Given the description of an element on the screen output the (x, y) to click on. 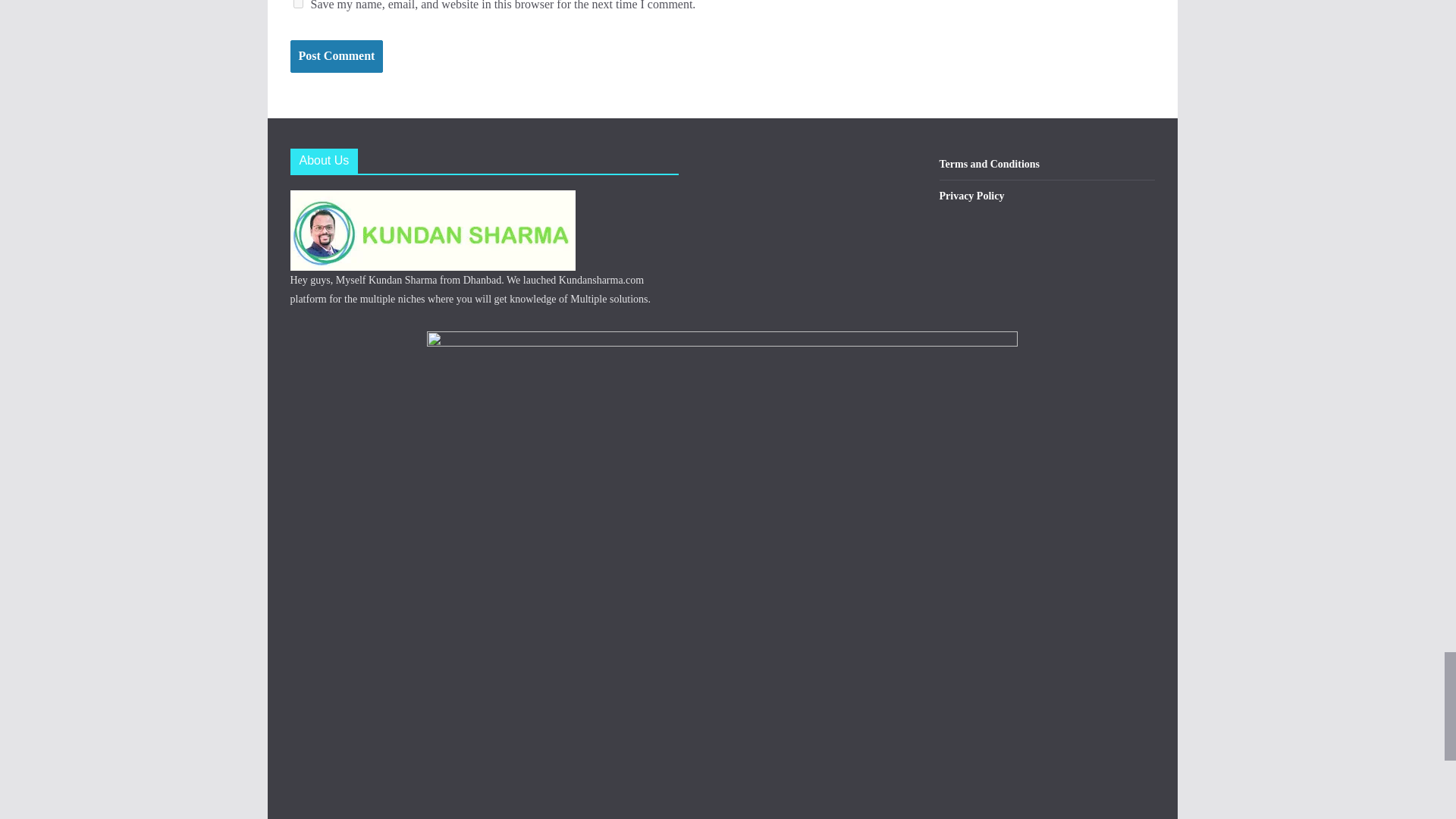
yes (297, 4)
Post Comment (335, 56)
